Given the description of an element on the screen output the (x, y) to click on. 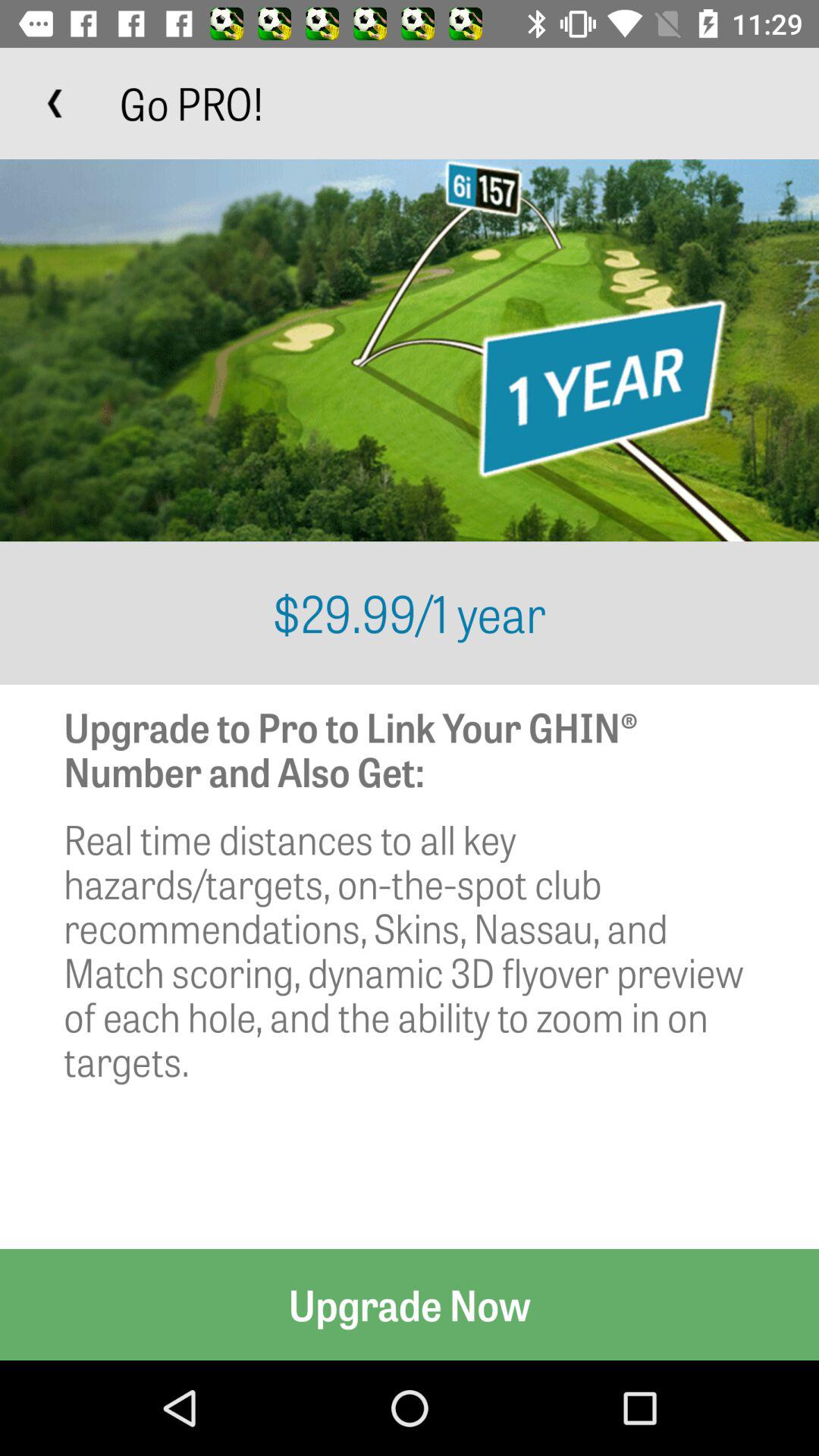
click the item to the left of go pro! (55, 103)
